Given the description of an element on the screen output the (x, y) to click on. 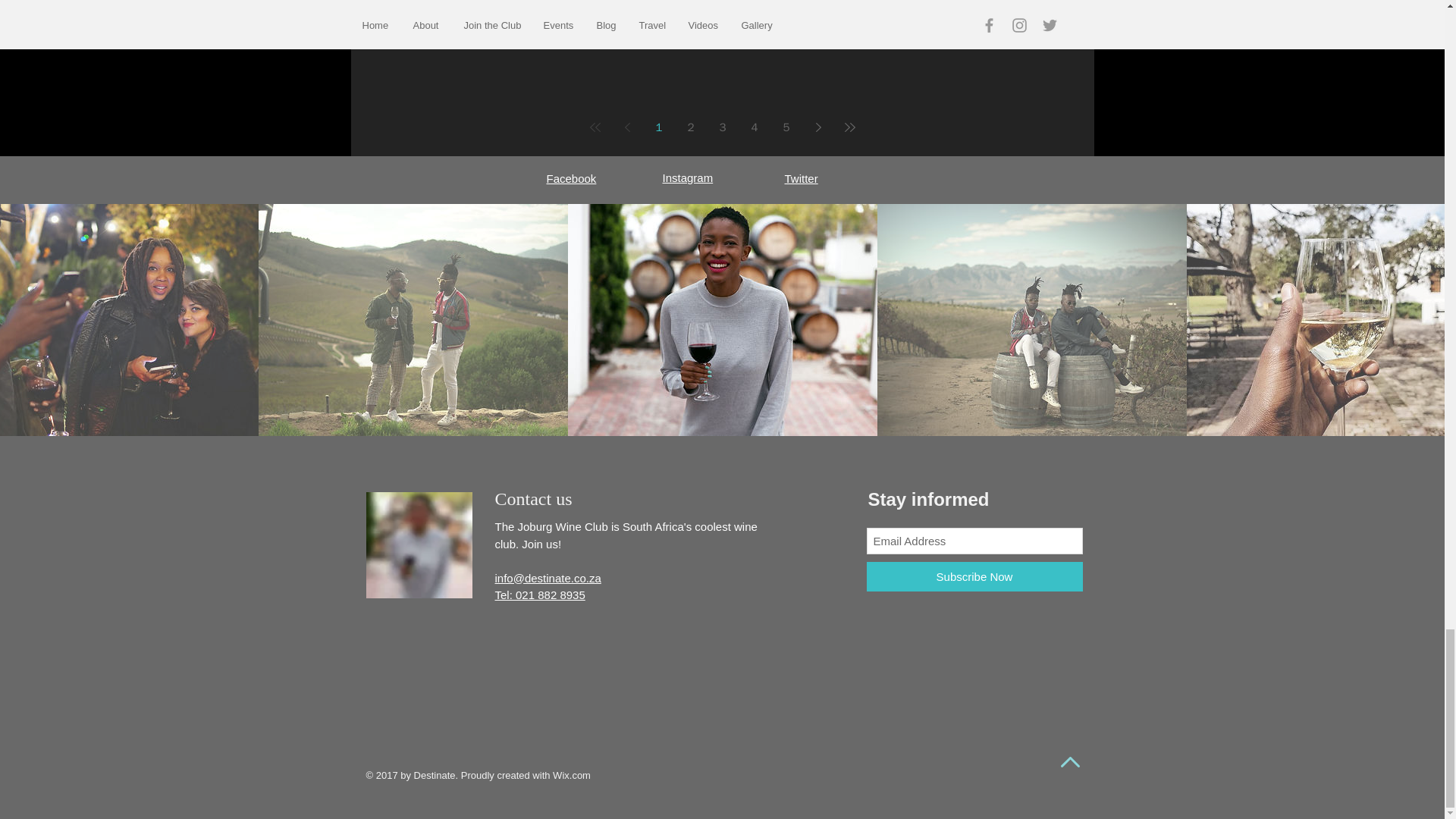
5 (786, 126)
3 (722, 126)
Tel: 021 882 8935 (540, 594)
Twitter (800, 178)
Wix.com (572, 775)
Facebook (570, 178)
4 (754, 126)
Subscribe Now (973, 576)
Instagram (687, 177)
2 (690, 126)
